Given the description of an element on the screen output the (x, y) to click on. 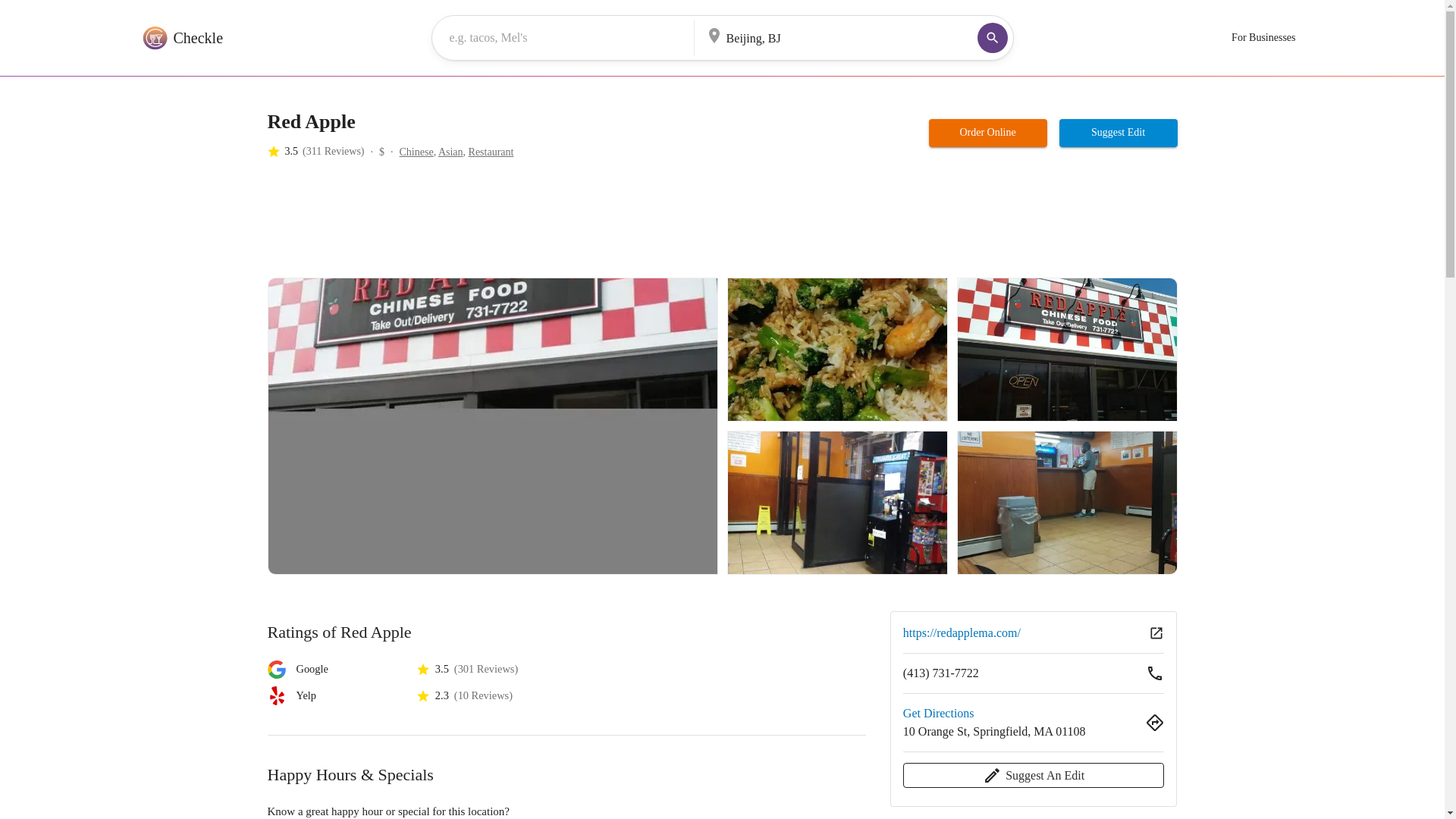
For Businesses (1263, 38)
Suggest Edit (1118, 132)
Advertisement (542, 224)
Checkle (180, 37)
Suggest An Edit (1033, 774)
Asian (450, 151)
Beijing, BJ (819, 37)
Get Directions (938, 712)
Chinese (415, 151)
Order Online (987, 132)
Restaurant (490, 151)
